Given the description of an element on the screen output the (x, y) to click on. 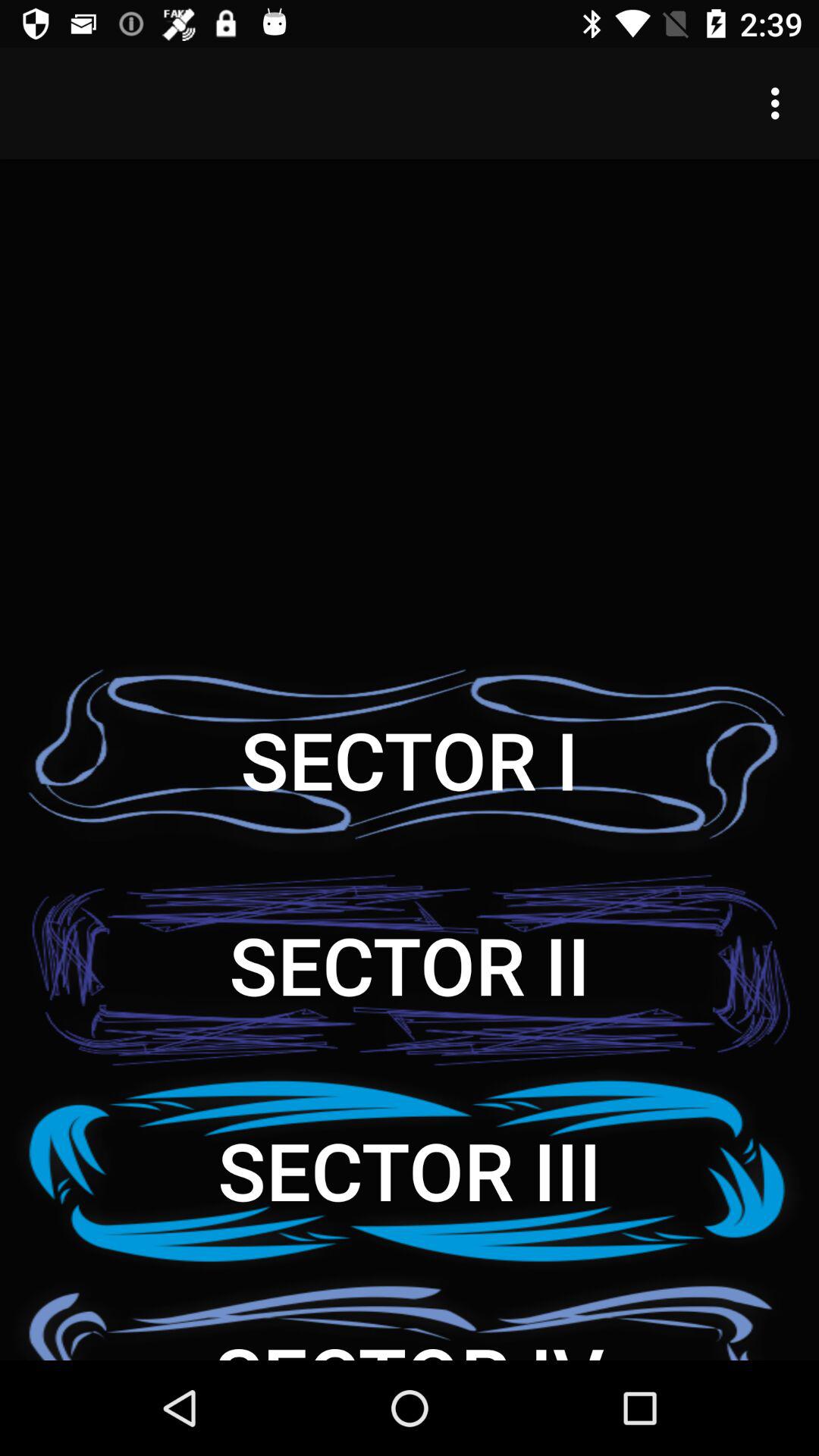
select item above the sector ii (409, 759)
